Given the description of an element on the screen output the (x, y) to click on. 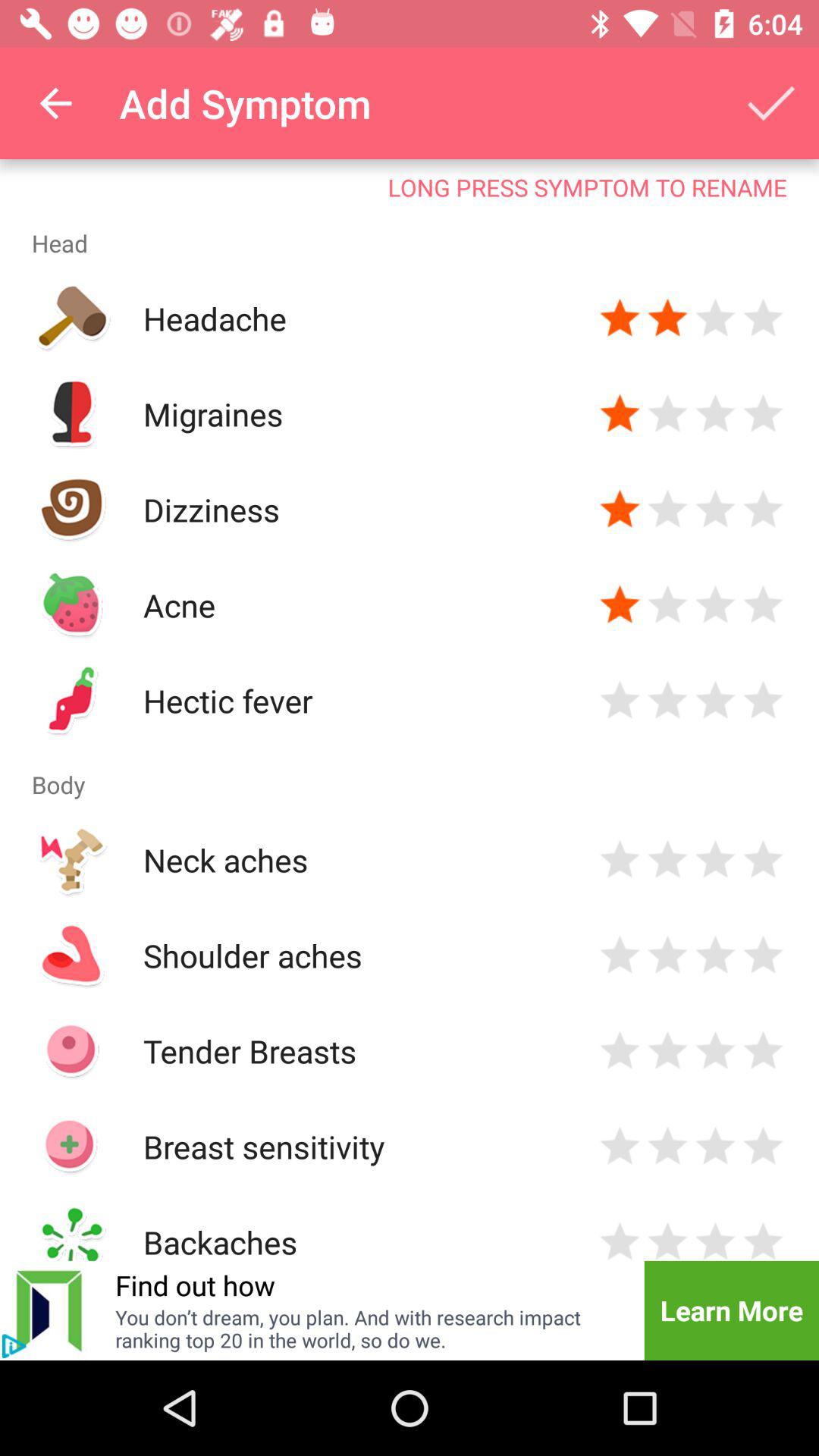
star option (763, 1146)
